Given the description of an element on the screen output the (x, y) to click on. 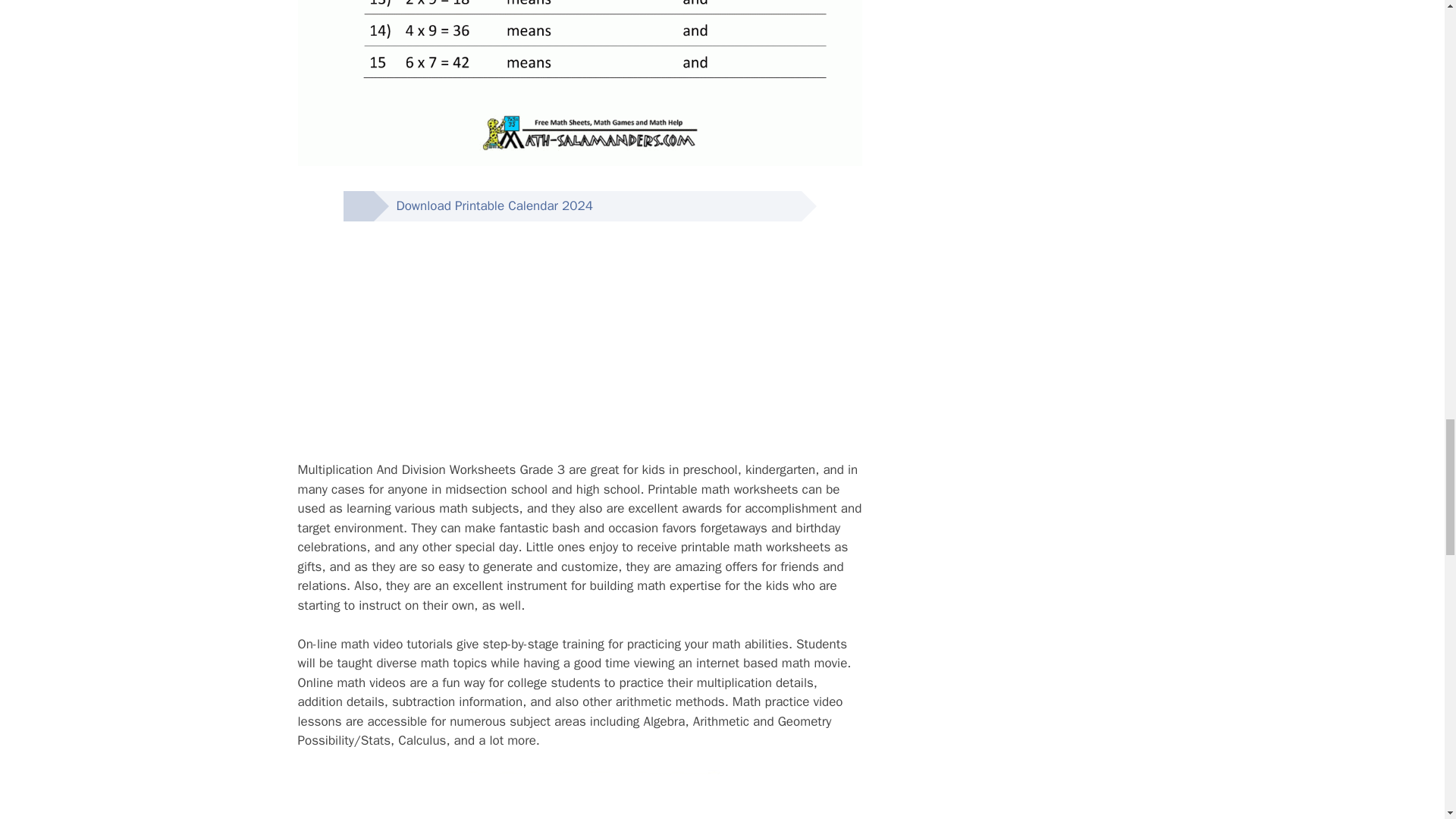
Download Printable Calendar 2024 (482, 205)
